Given the description of an element on the screen output the (x, y) to click on. 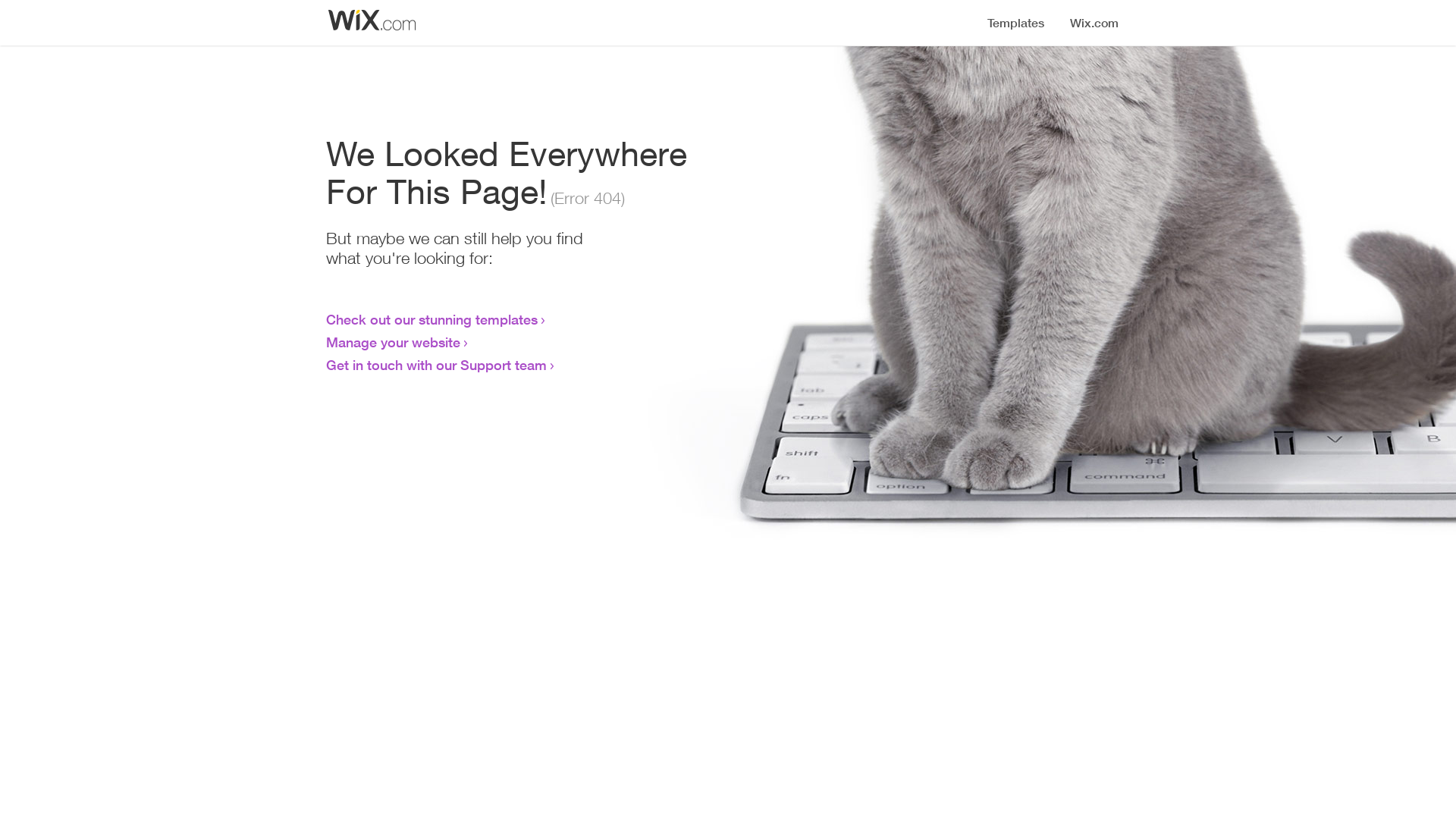
Get in touch with our Support team Element type: text (436, 364)
Check out our stunning templates Element type: text (431, 318)
Manage your website Element type: text (393, 341)
